Given the description of an element on the screen output the (x, y) to click on. 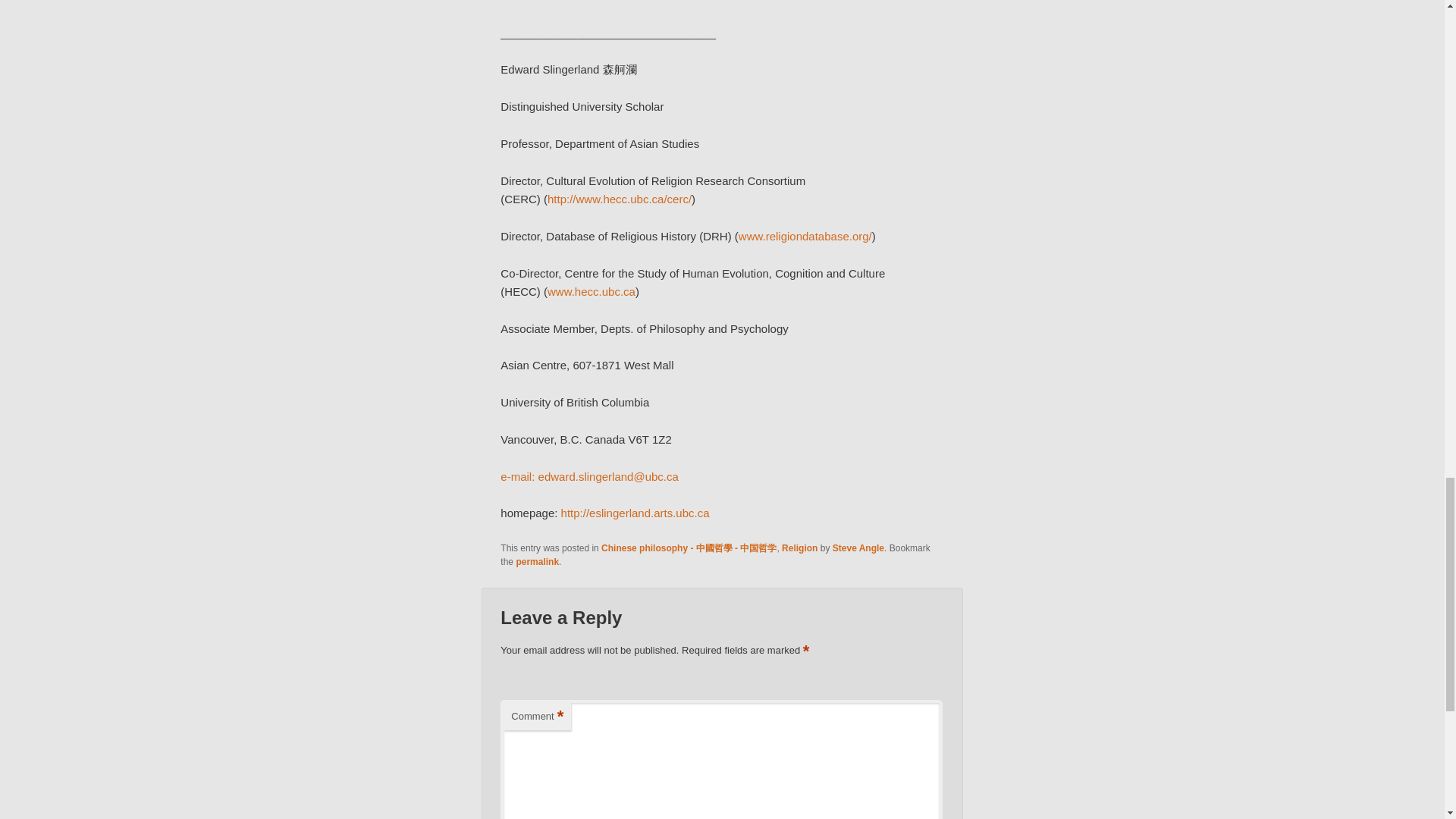
Permalink to Database of Religious History (537, 561)
permalink (537, 561)
Religion (798, 547)
Steve Angle (857, 547)
www.hecc.ubc.ca (590, 291)
